Given the description of an element on the screen output the (x, y) to click on. 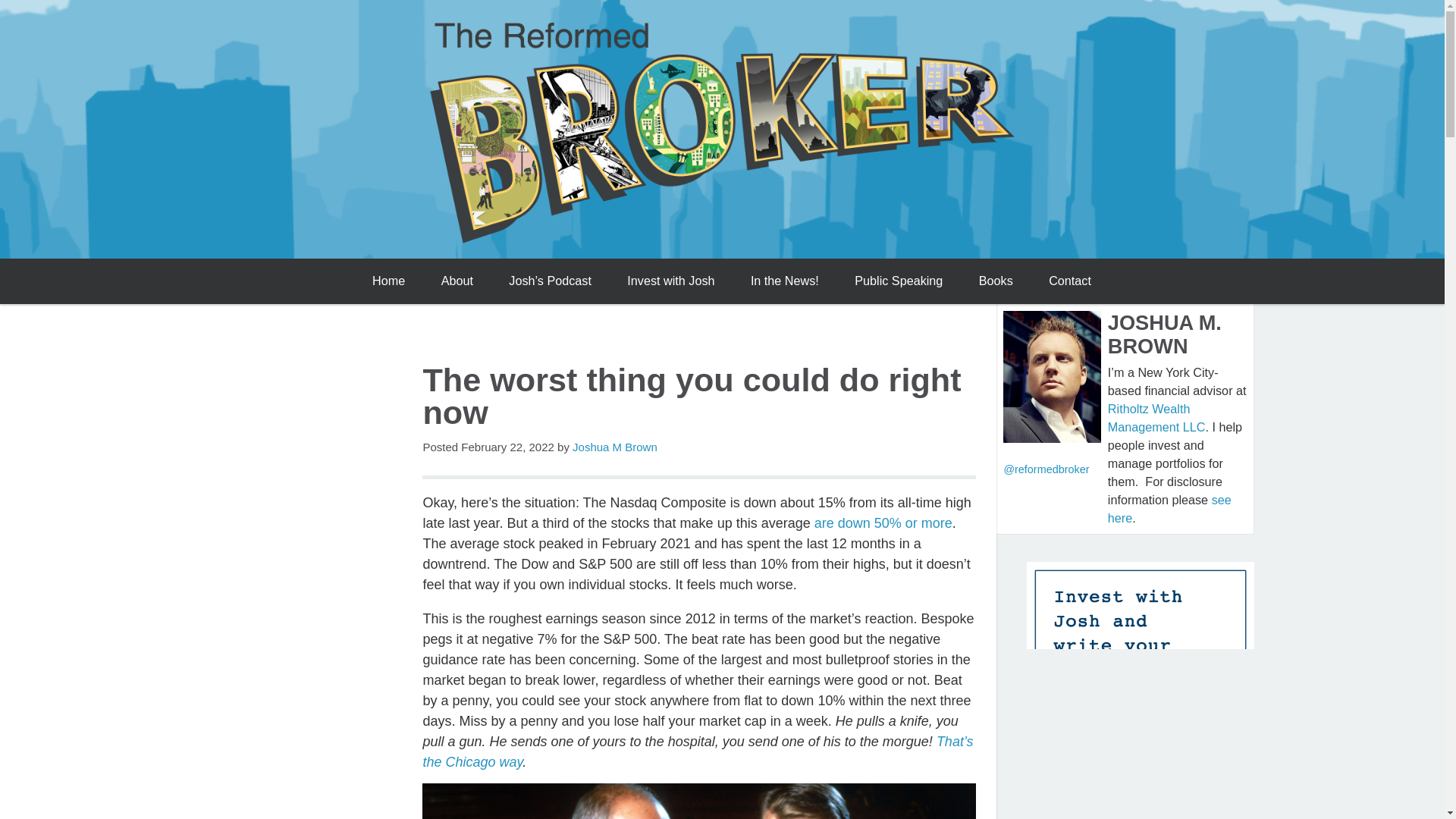
Joshua M Brown (615, 446)
In the News! (784, 280)
Home (388, 280)
About (456, 280)
Public Speaking (899, 280)
Contact (1069, 280)
Posts by Joshua M Brown (615, 446)
Books (995, 280)
Invest with Josh (670, 280)
